Given the description of an element on the screen output the (x, y) to click on. 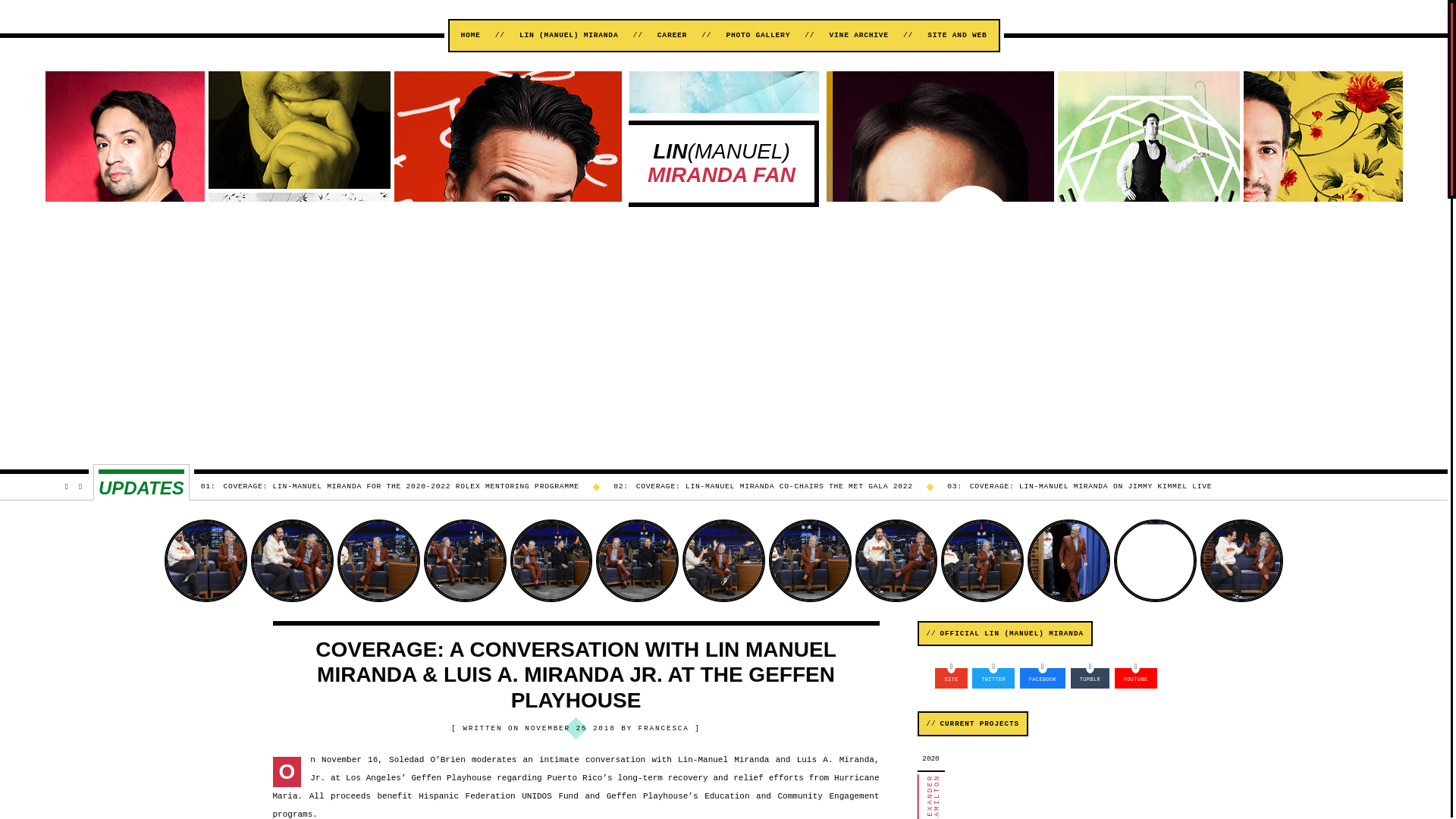
VINE ARCHIVE (858, 35)
07May24-0014.jpg (291, 560)
07May24-0011.jpg (636, 560)
07May24-0006.jpg (982, 560)
07May24-0003.jpg (1155, 560)
07May24-0012.jpg (379, 560)
CAREER (672, 35)
07May24-0010.jpg (551, 560)
PHOTO GALLERY (757, 35)
07May24-0004.jpg (1241, 560)
SITE AND WEB (957, 35)
07May24-0005.jpg (1068, 560)
HOME (470, 35)
07May24-0009.jpg (723, 560)
